Given the description of an element on the screen output the (x, y) to click on. 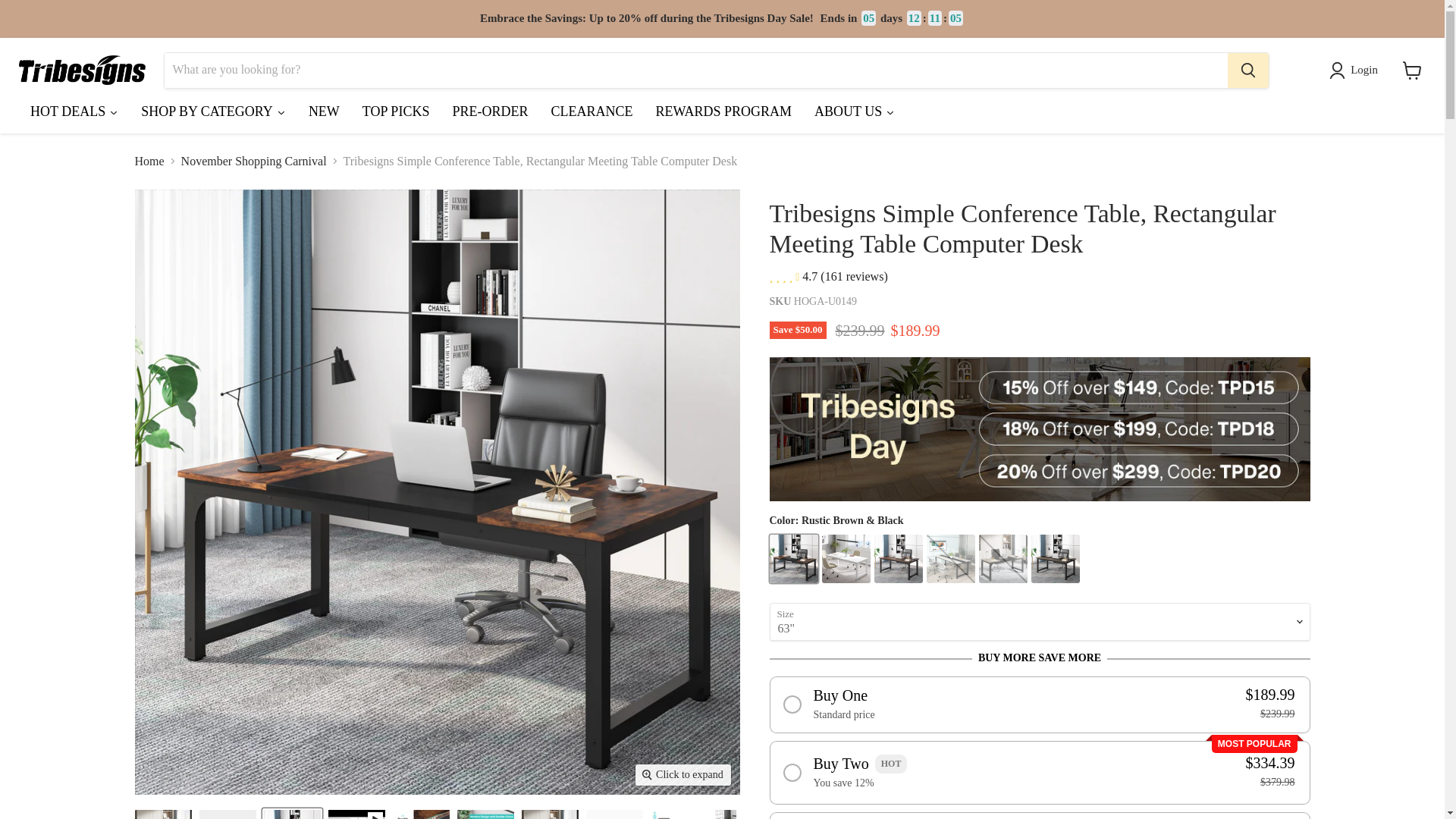
REWARDS PROGRAM (723, 114)
CLEARANCE (590, 114)
TOP PICKS (395, 114)
HOT DEALS (73, 114)
Home (149, 161)
NEW (323, 114)
TOP PICKS (395, 114)
SHOP BY CATEGORY (213, 114)
Click to expand (682, 774)
NEW (323, 114)
ABOUT US (854, 114)
ABOUT US (854, 114)
November Shopping Carnival (253, 161)
CLEARANCE (590, 114)
View cart (1411, 69)
